Given the description of an element on the screen output the (x, y) to click on. 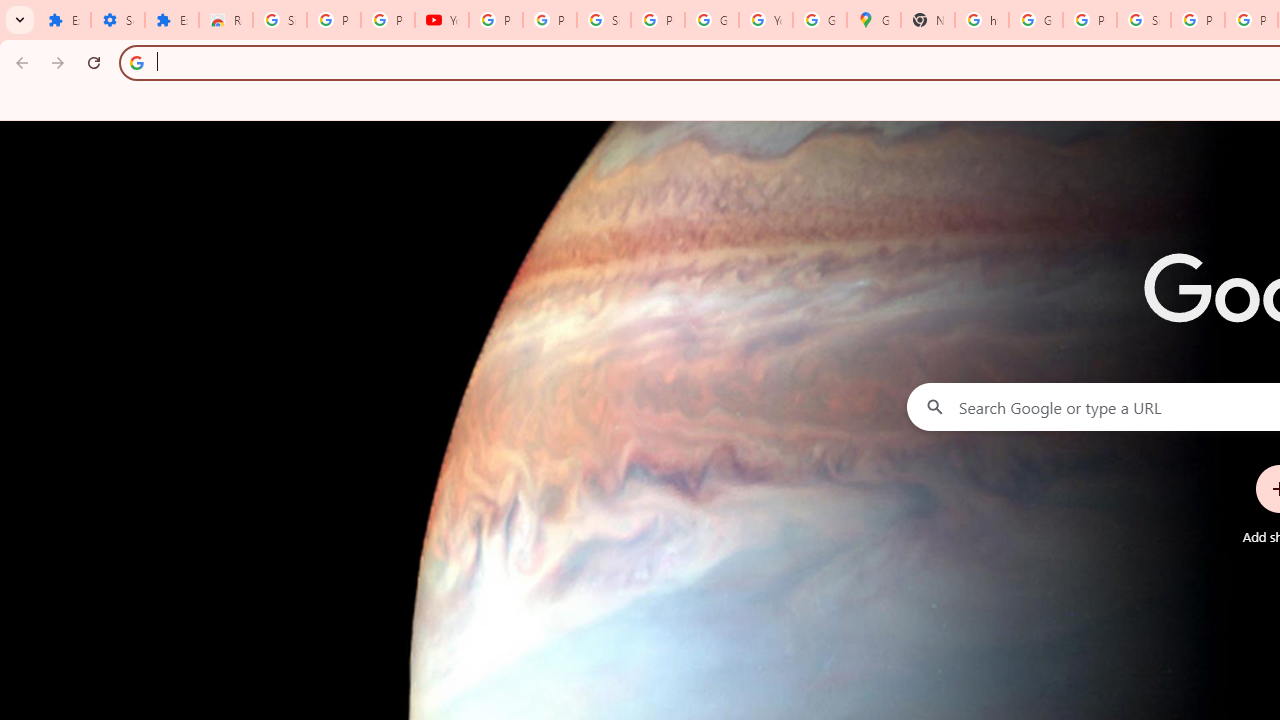
Google Account (711, 20)
New Tab (927, 20)
https://scholar.google.com/ (981, 20)
Extensions (63, 20)
Sign in - Google Accounts (1144, 20)
Extensions (171, 20)
